Given the description of an element on the screen output the (x, y) to click on. 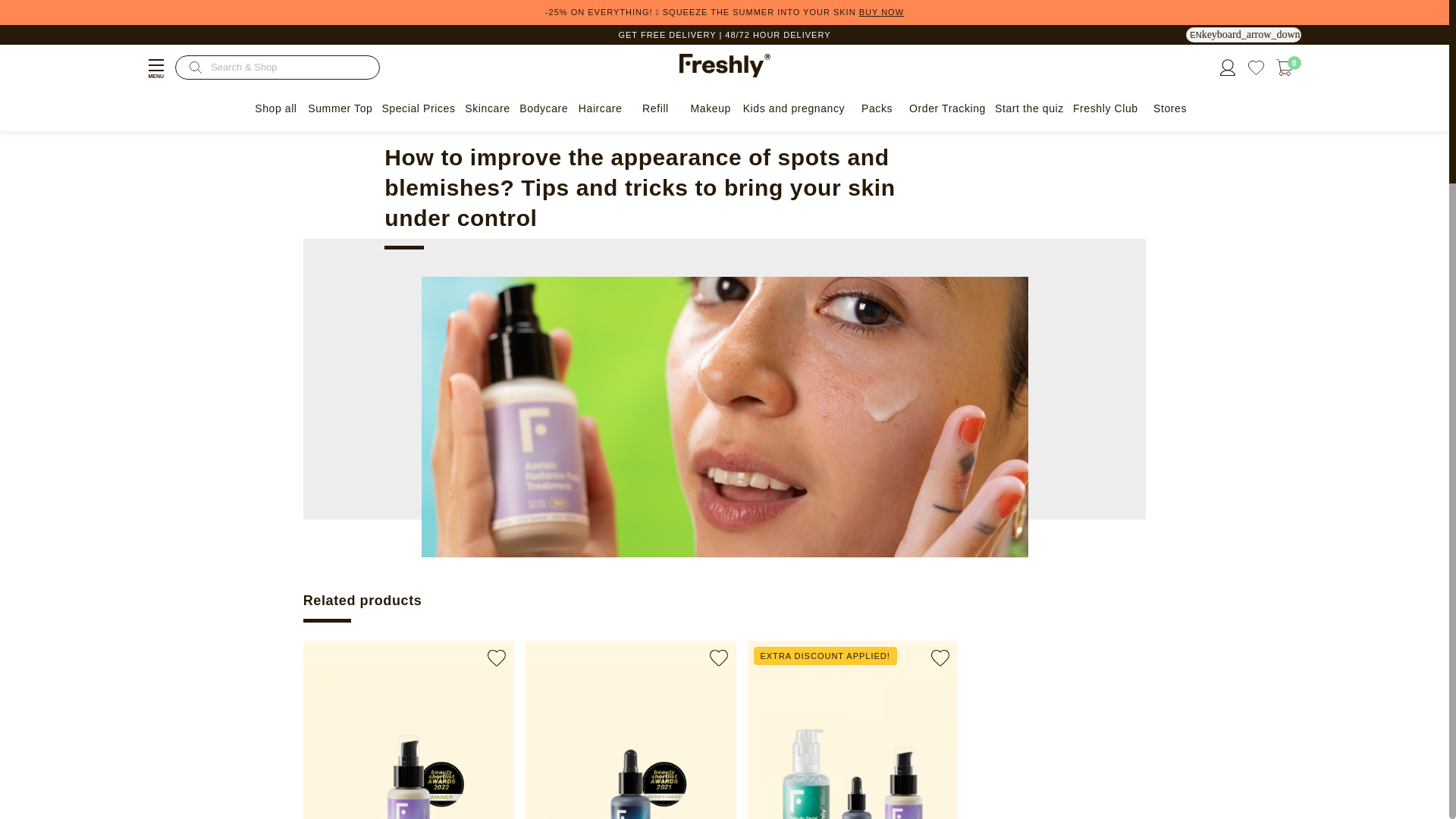
Log in to your customer account (1226, 65)
Wishlist (1255, 66)
